Given the description of an element on the screen output the (x, y) to click on. 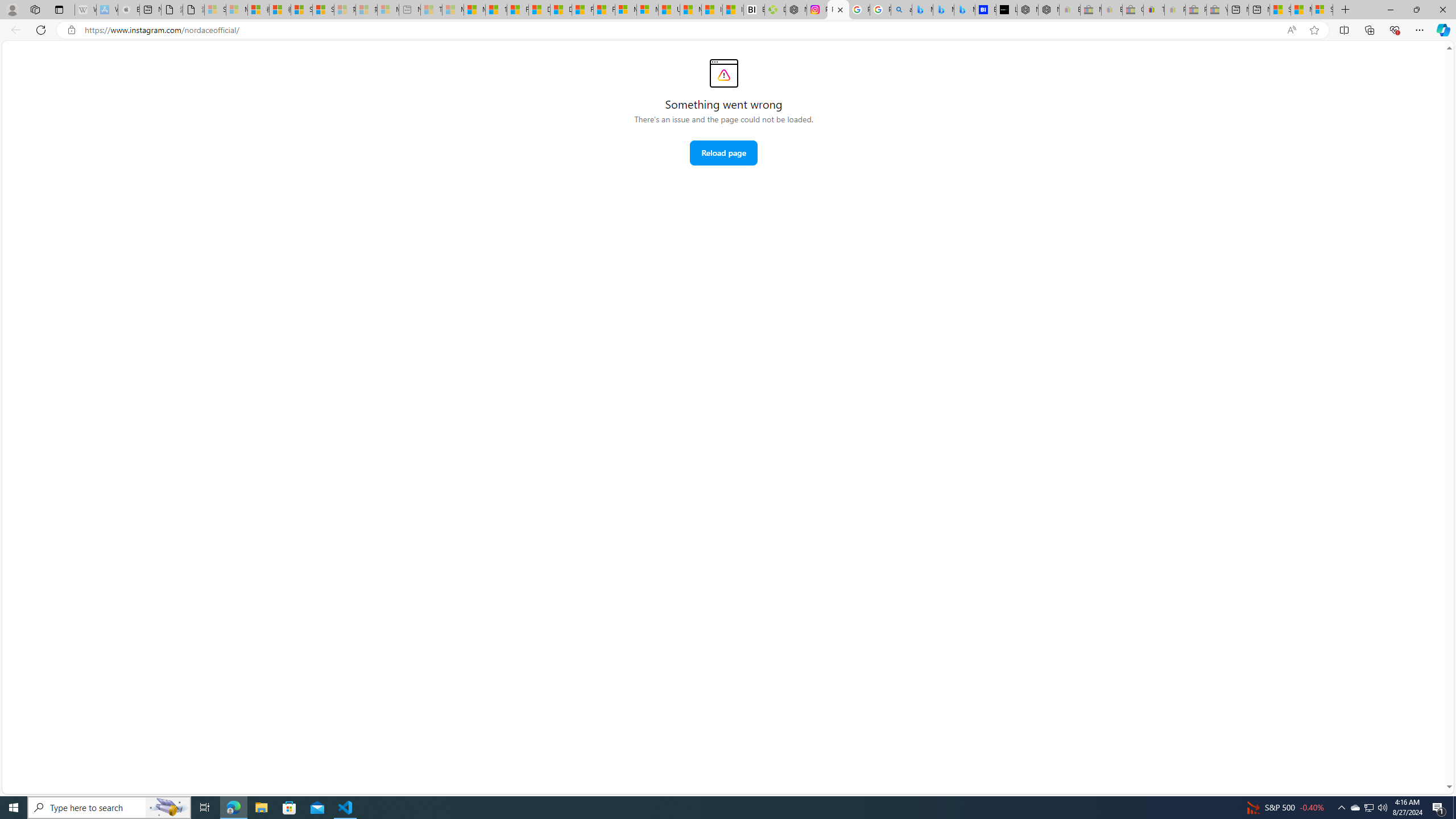
Sign in to your Microsoft account - Sleeping (215, 9)
Microsoft account | Account Checkup - Sleeping (387, 9)
